Given the description of an element on the screen output the (x, y) to click on. 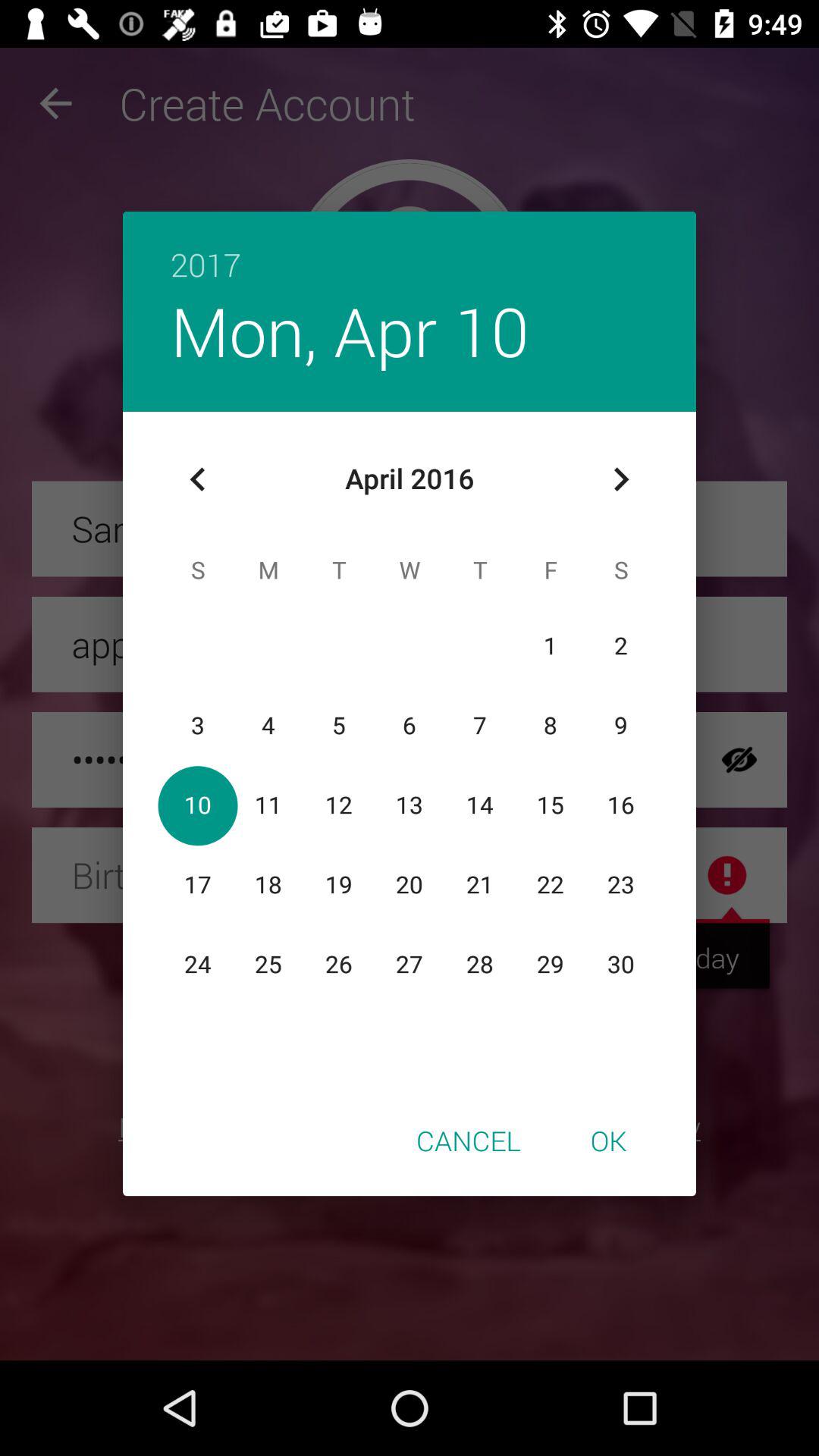
turn off the icon at the top right corner (620, 479)
